Given the description of an element on the screen output the (x, y) to click on. 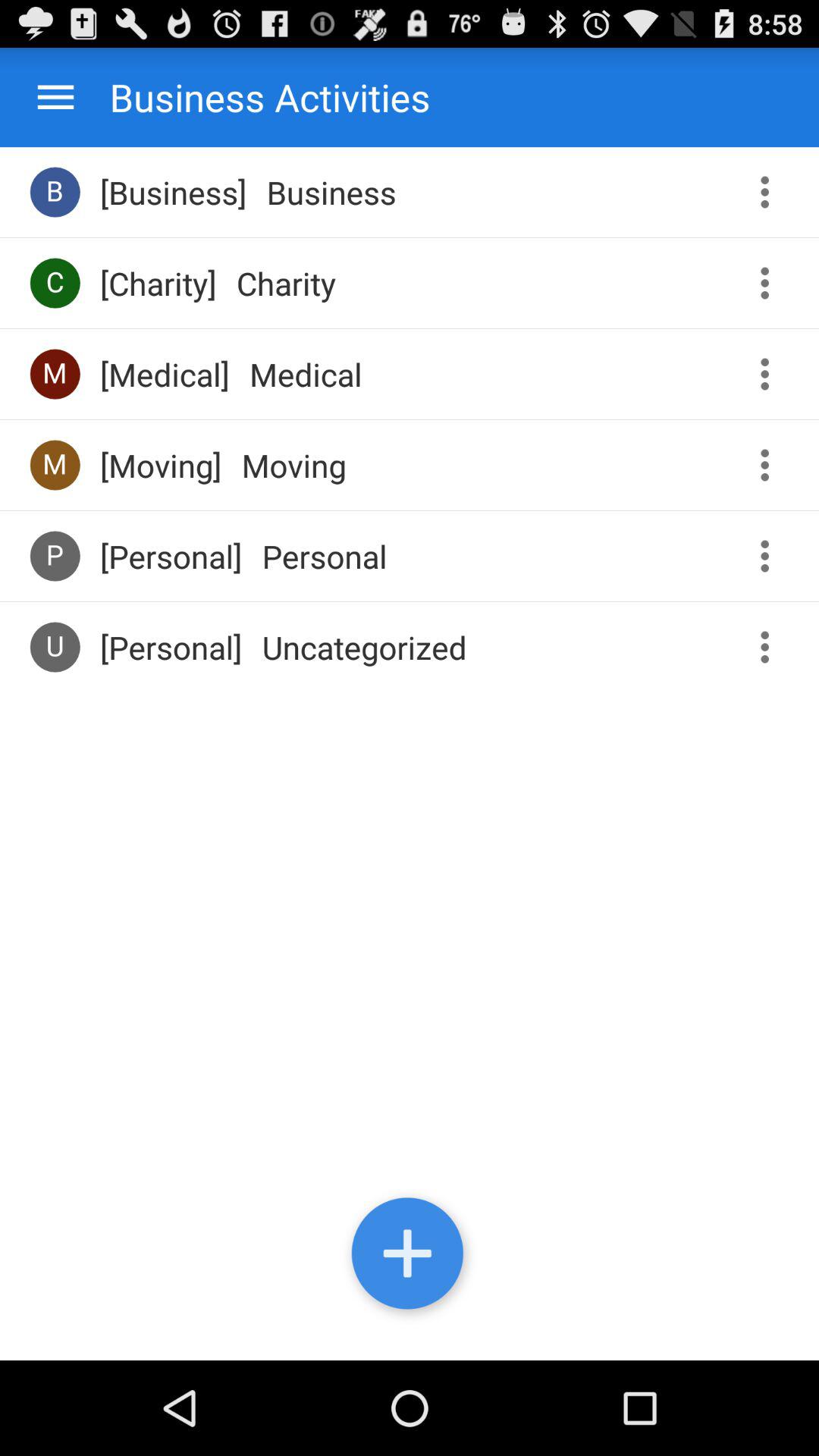
options (55, 97)
